Given the description of an element on the screen output the (x, y) to click on. 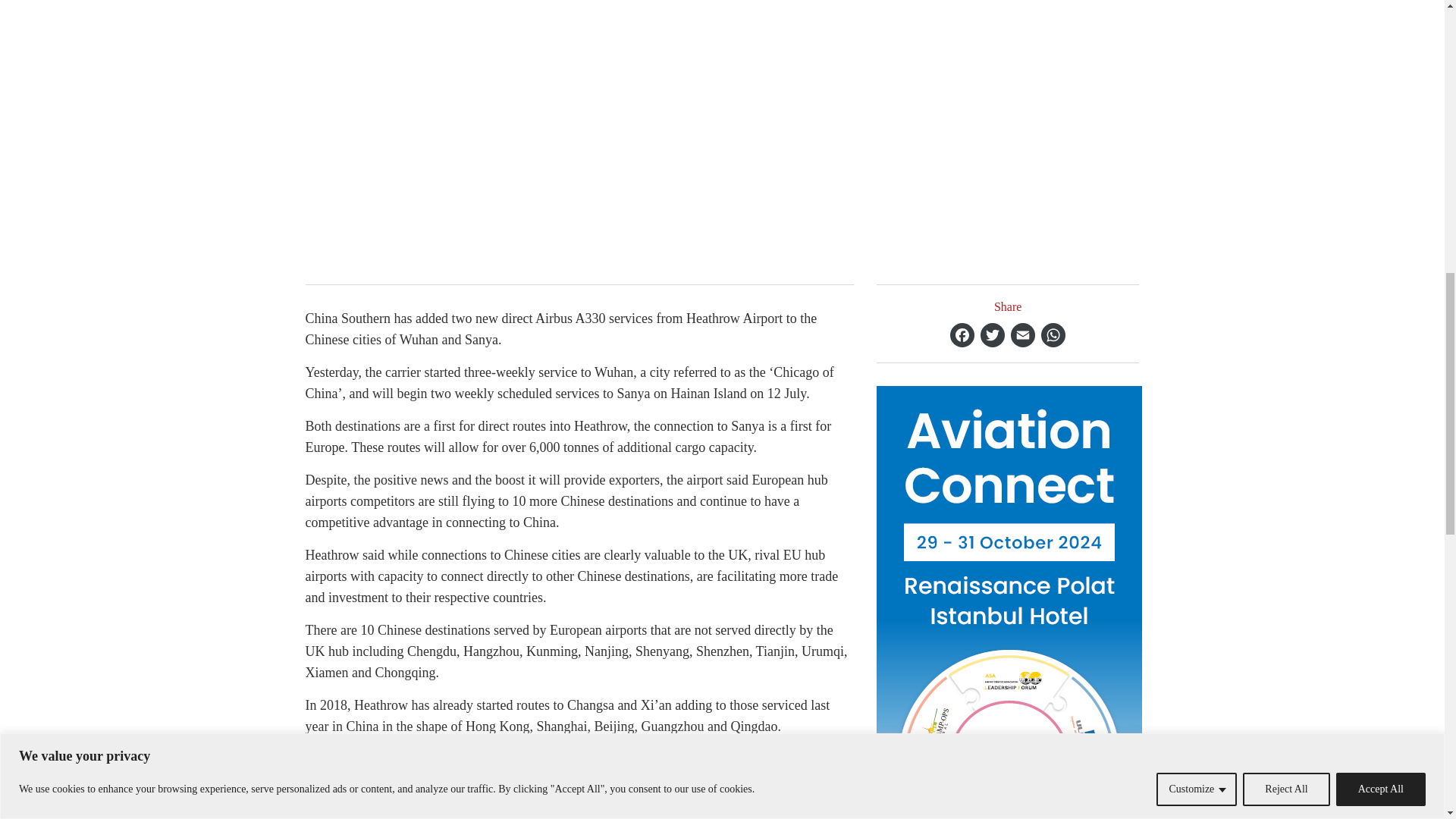
Twitter (991, 334)
Email (1022, 334)
WhatsApp (1053, 334)
Facebook (961, 334)
